Given the description of an element on the screen output the (x, y) to click on. 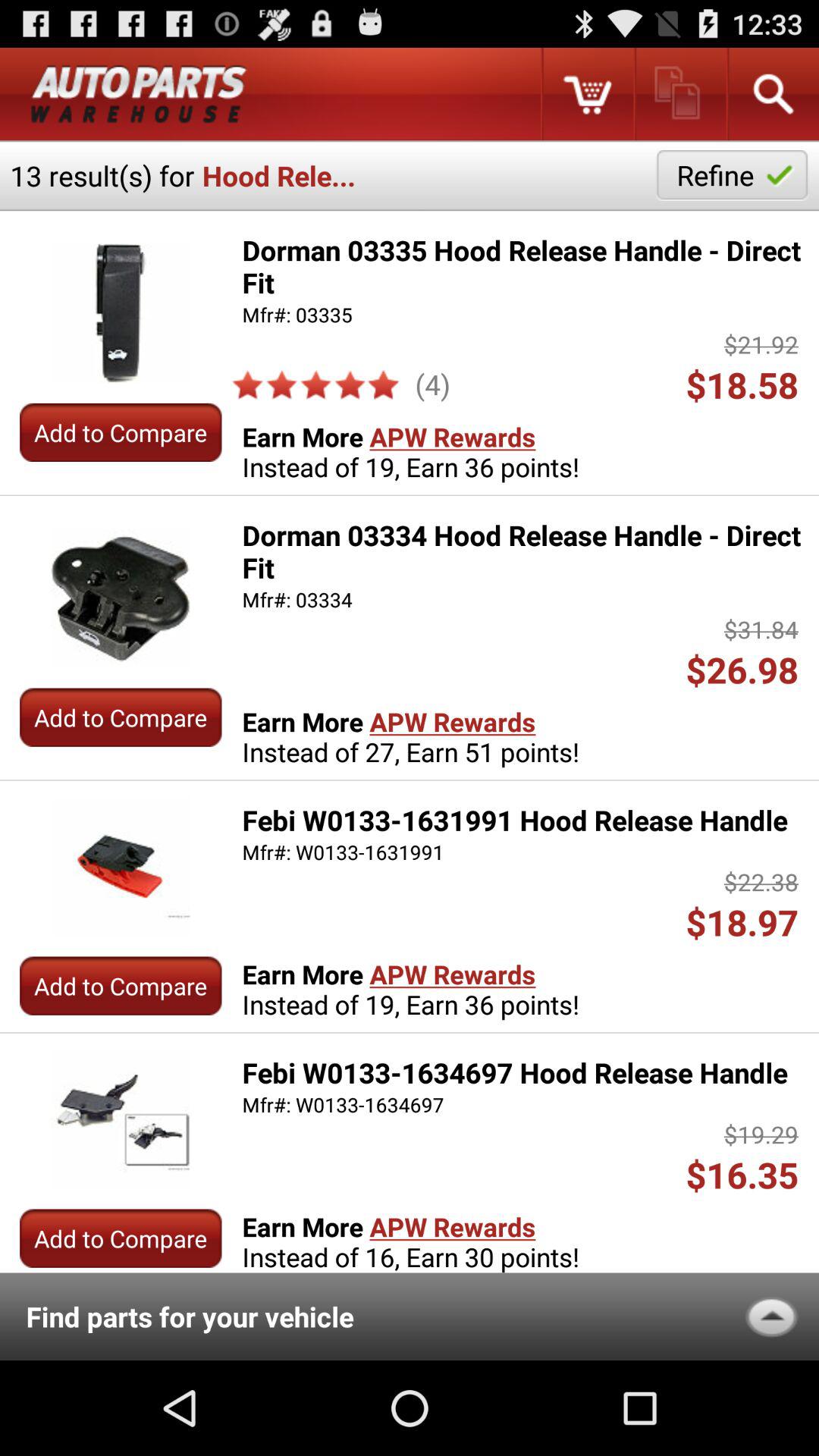
copy and paste (679, 93)
